Given the description of an element on the screen output the (x, y) to click on. 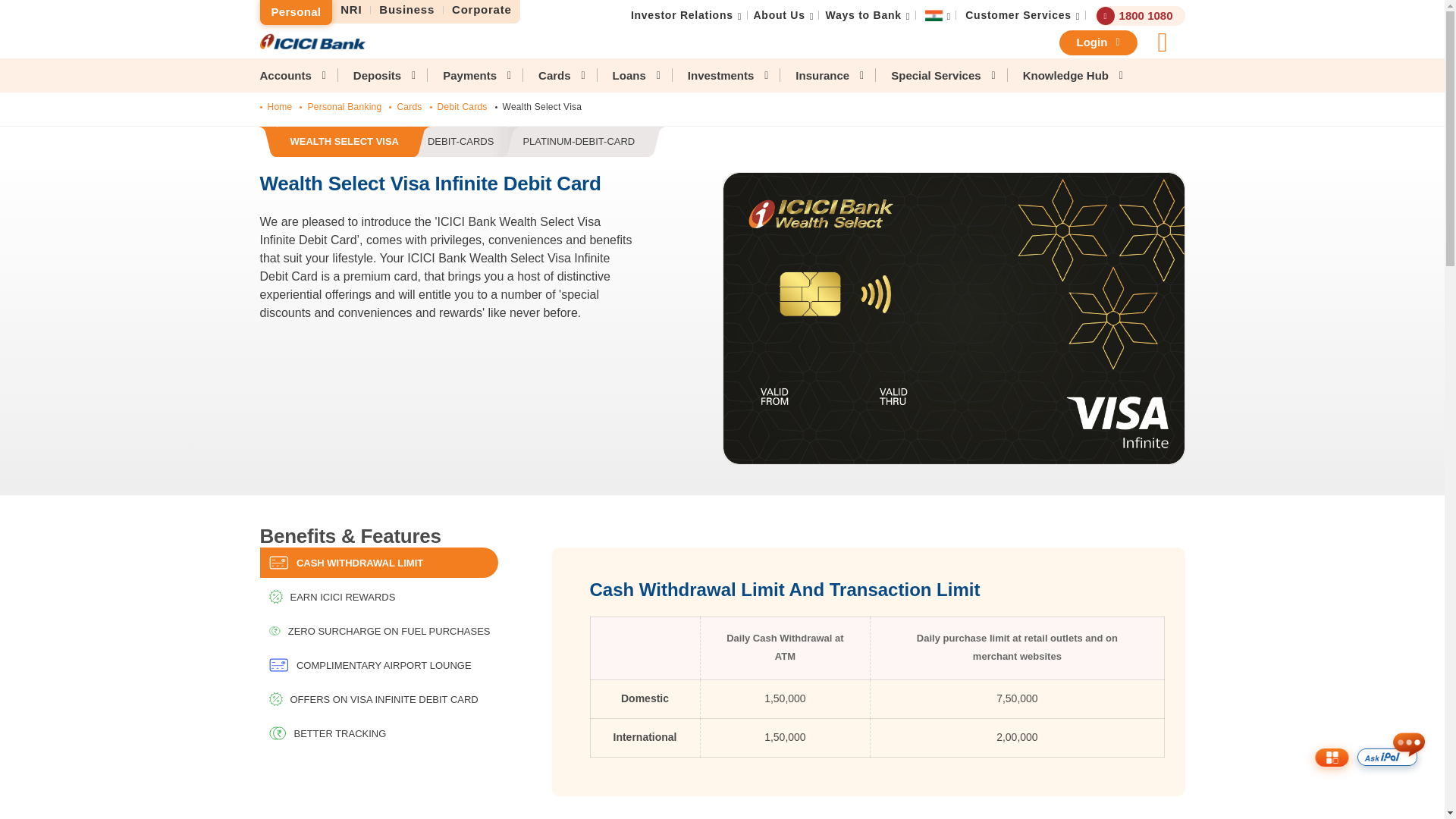
Customer Services (1018, 15)
Business (407, 9)
Personal (295, 12)
Investor Relations (681, 15)
About Us (461, 142)
Corporate (779, 15)
Ways to Bank (481, 9)
NRI (863, 15)
